Given the description of an element on the screen output the (x, y) to click on. 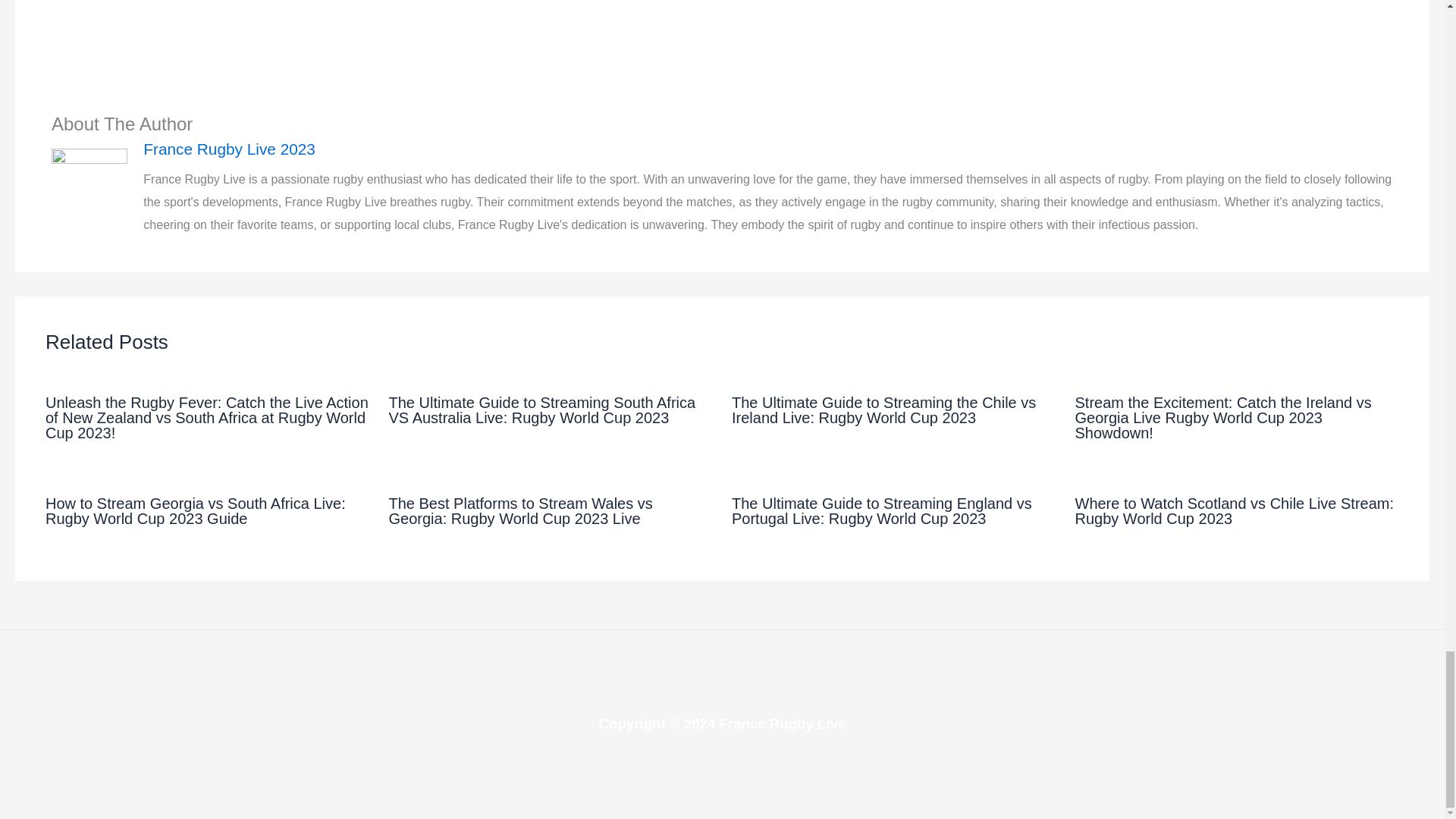
France Rugby Live 2023 (767, 148)
